Given the description of an element on the screen output the (x, y) to click on. 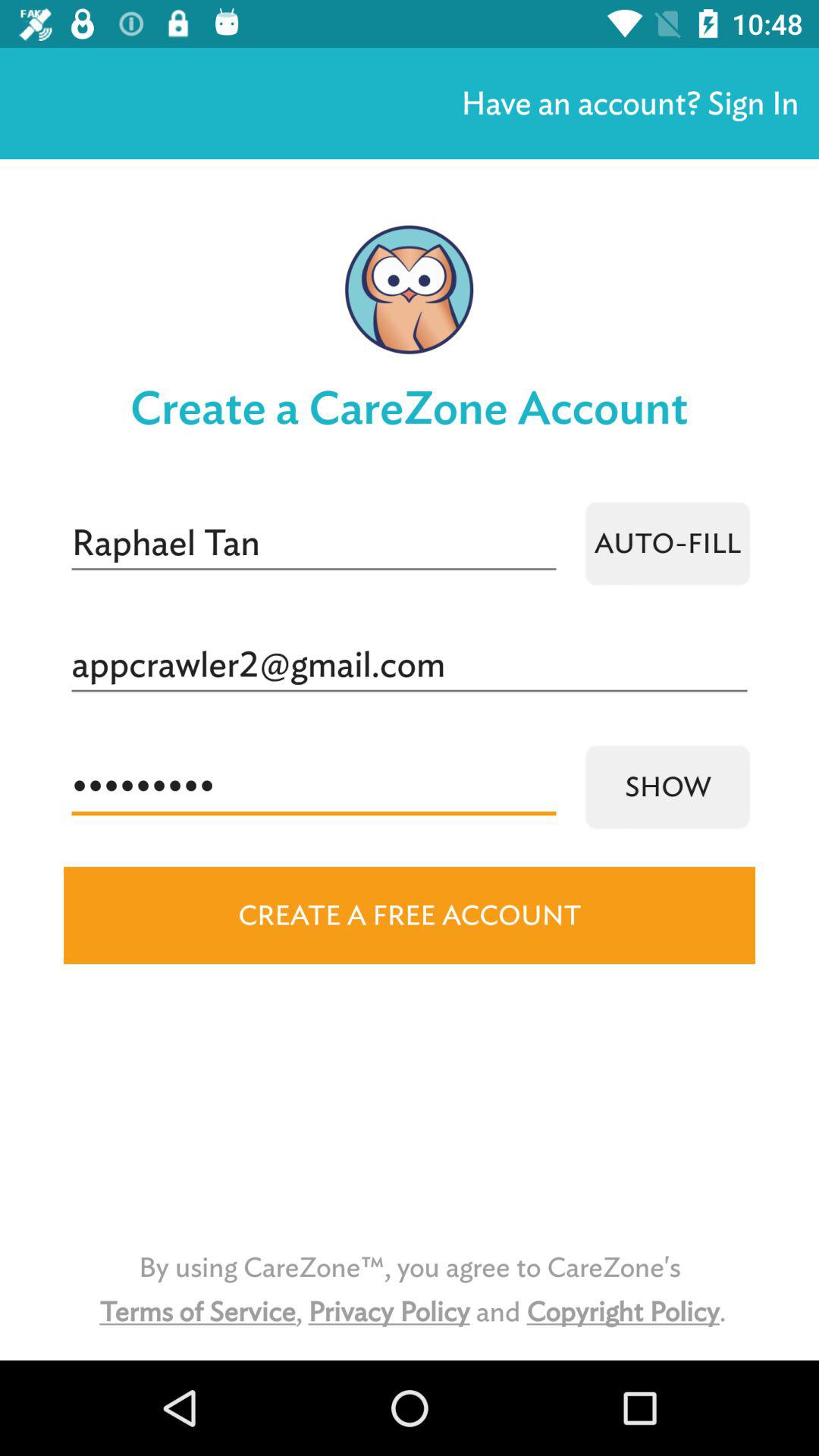
open item next to the auto-fill (313, 543)
